Given the description of an element on the screen output the (x, y) to click on. 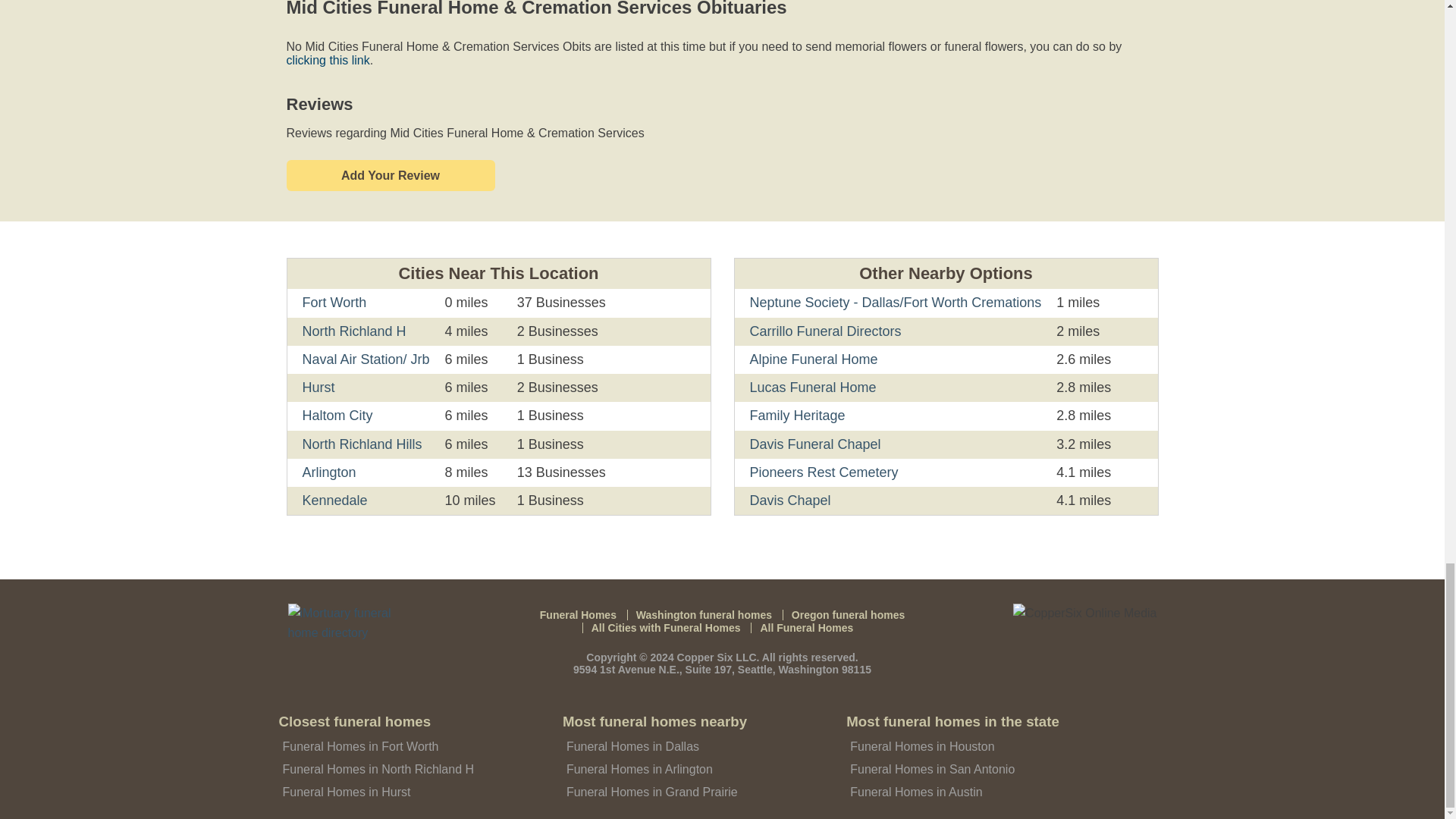
Davis Funeral Chapel (814, 444)
Fort Worth (333, 302)
Family Heritage (796, 415)
Alpine Funeral Home (813, 359)
Arlington (328, 472)
Davis Chapel (789, 500)
Pioneers Rest Cemetery (823, 472)
Add Your Review (390, 174)
Haltom City (336, 415)
Copper Six LLC. (718, 657)
